Given the description of an element on the screen output the (x, y) to click on. 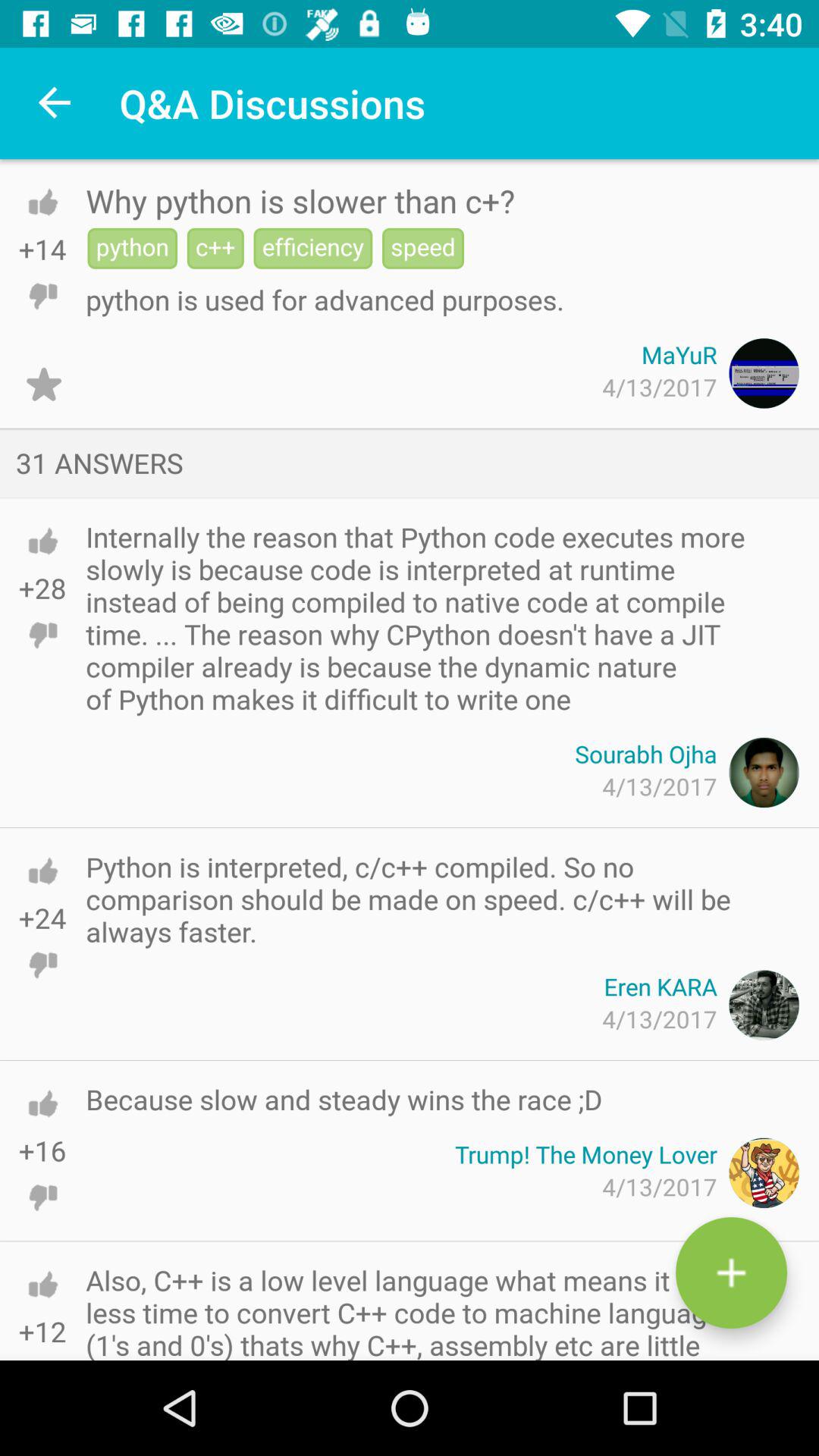
press item to the left of the 4/13/2017 icon (43, 384)
